Given the description of an element on the screen output the (x, y) to click on. 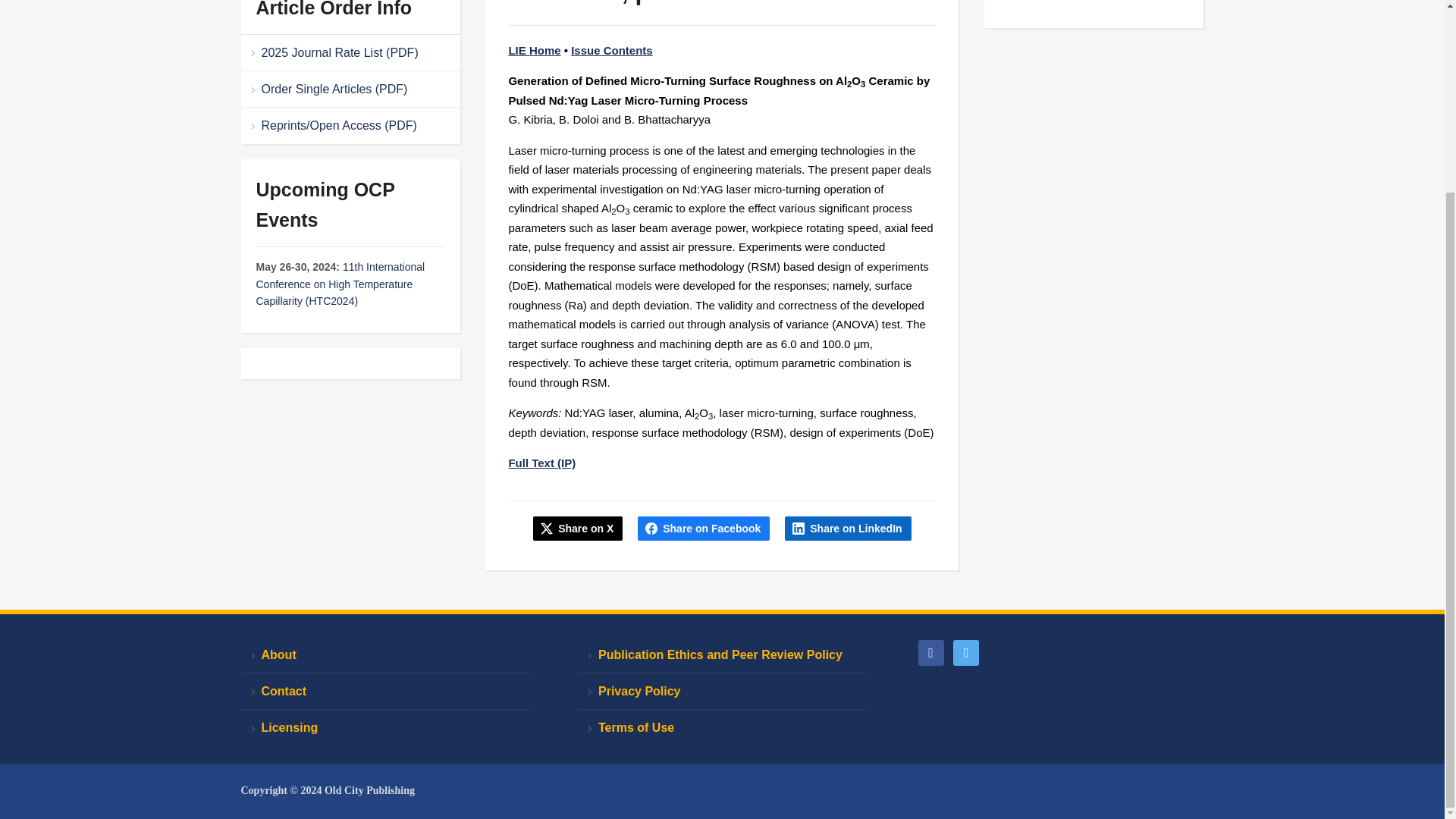
twitter (965, 651)
Friend me on Facebook (930, 651)
Licensing (385, 727)
Share on Facebook (703, 528)
About (385, 655)
Follow Me (965, 651)
Terms of Use (722, 727)
facebook (930, 651)
Share on LinkedIn (847, 528)
Share this on Facebook (703, 528)
